Given the description of an element on the screen output the (x, y) to click on. 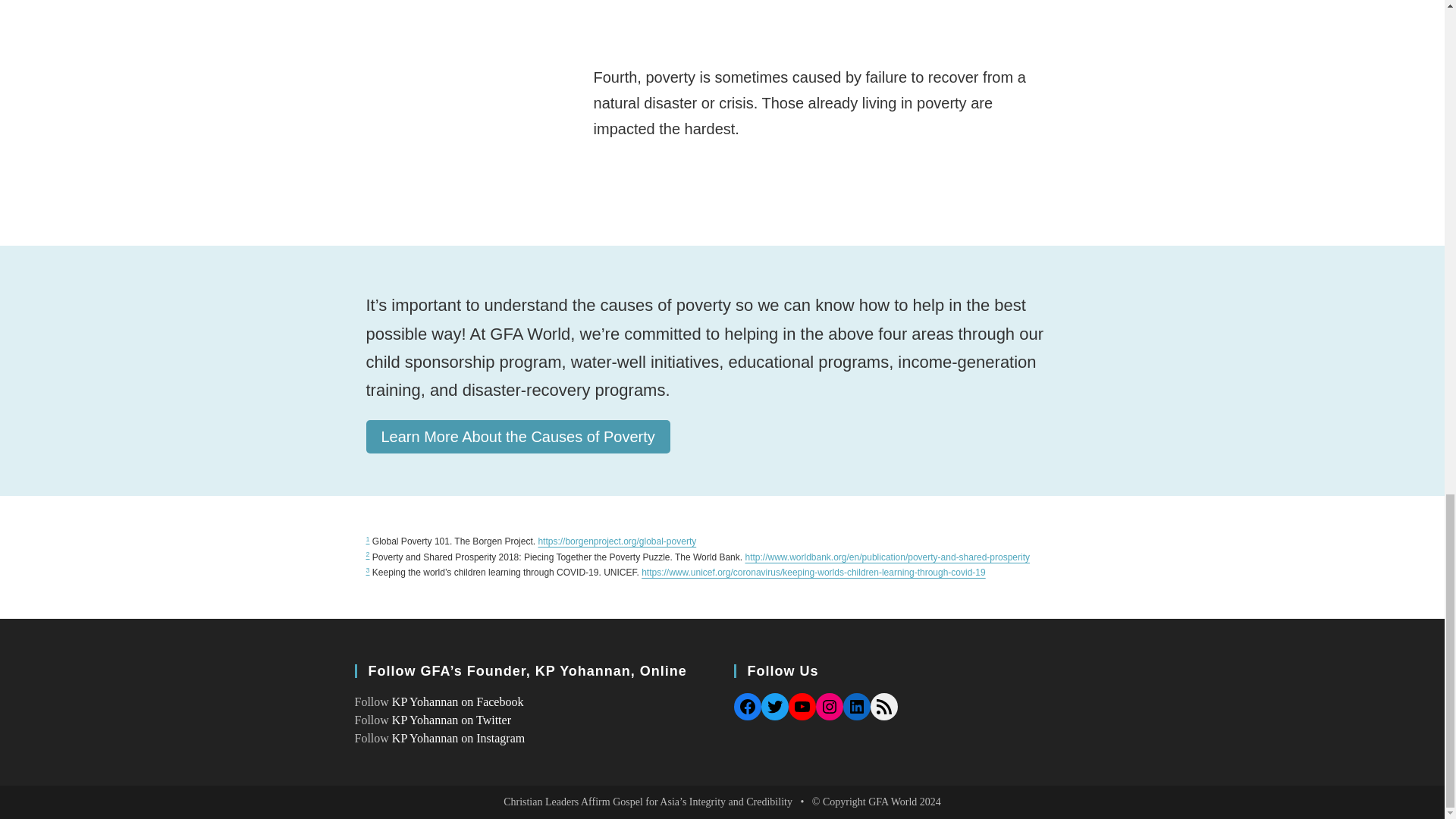
Learn More About the Causes of Poverty (517, 436)
KP Yohannan on Twitter (451, 719)
KP Yohannan on Instagram (457, 738)
Learn More About the Causes of Poverty (517, 436)
KP Yohannan on Twitter (451, 719)
KP Yohannan on Facebook (457, 701)
KP Yohannan on Facebook (457, 701)
KP Yohannan on Instagram (457, 738)
